Given the description of an element on the screen output the (x, y) to click on. 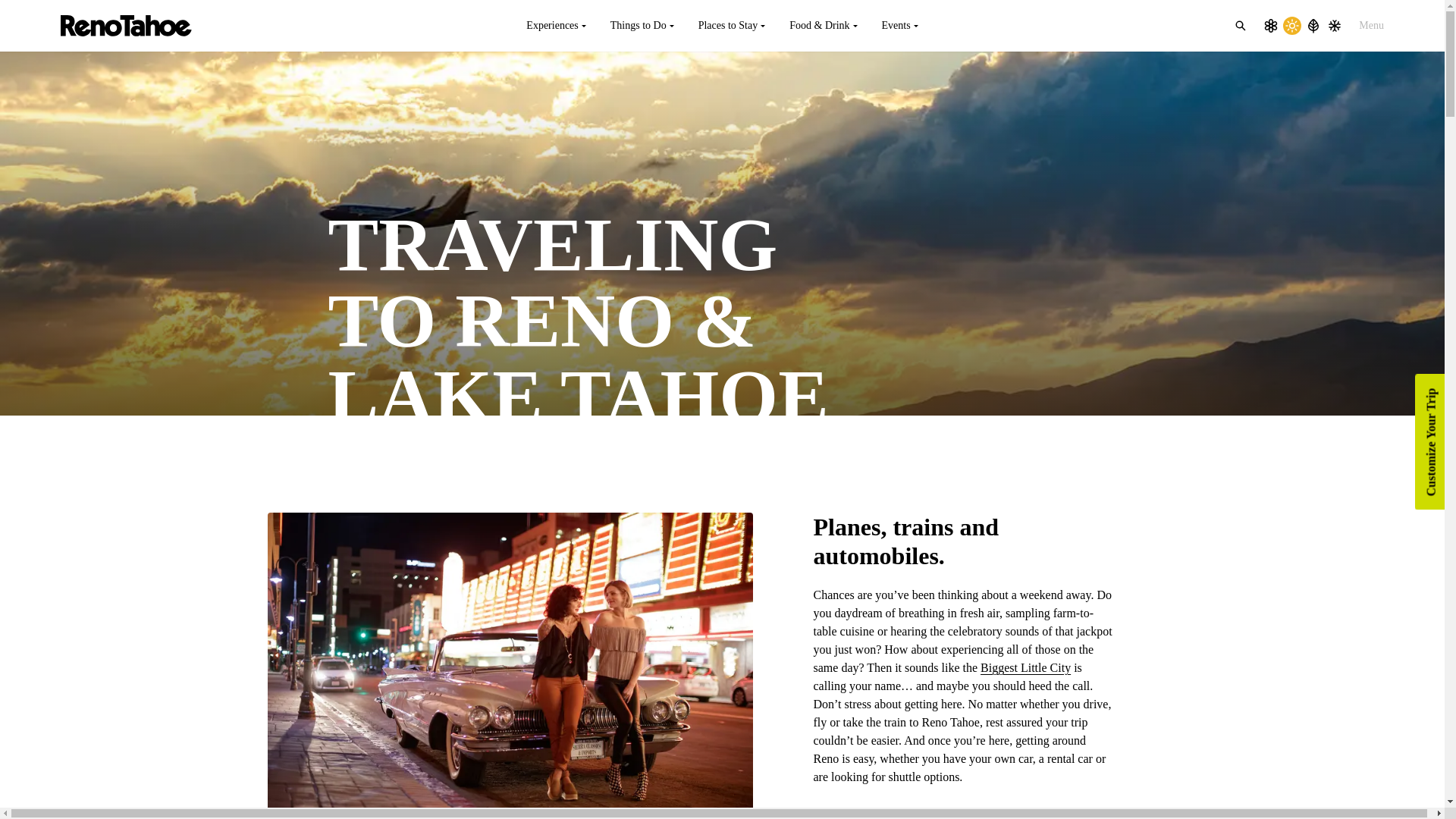
Experiences (554, 25)
Places to Stay (731, 25)
Things to Do (641, 25)
